Given the description of an element on the screen output the (x, y) to click on. 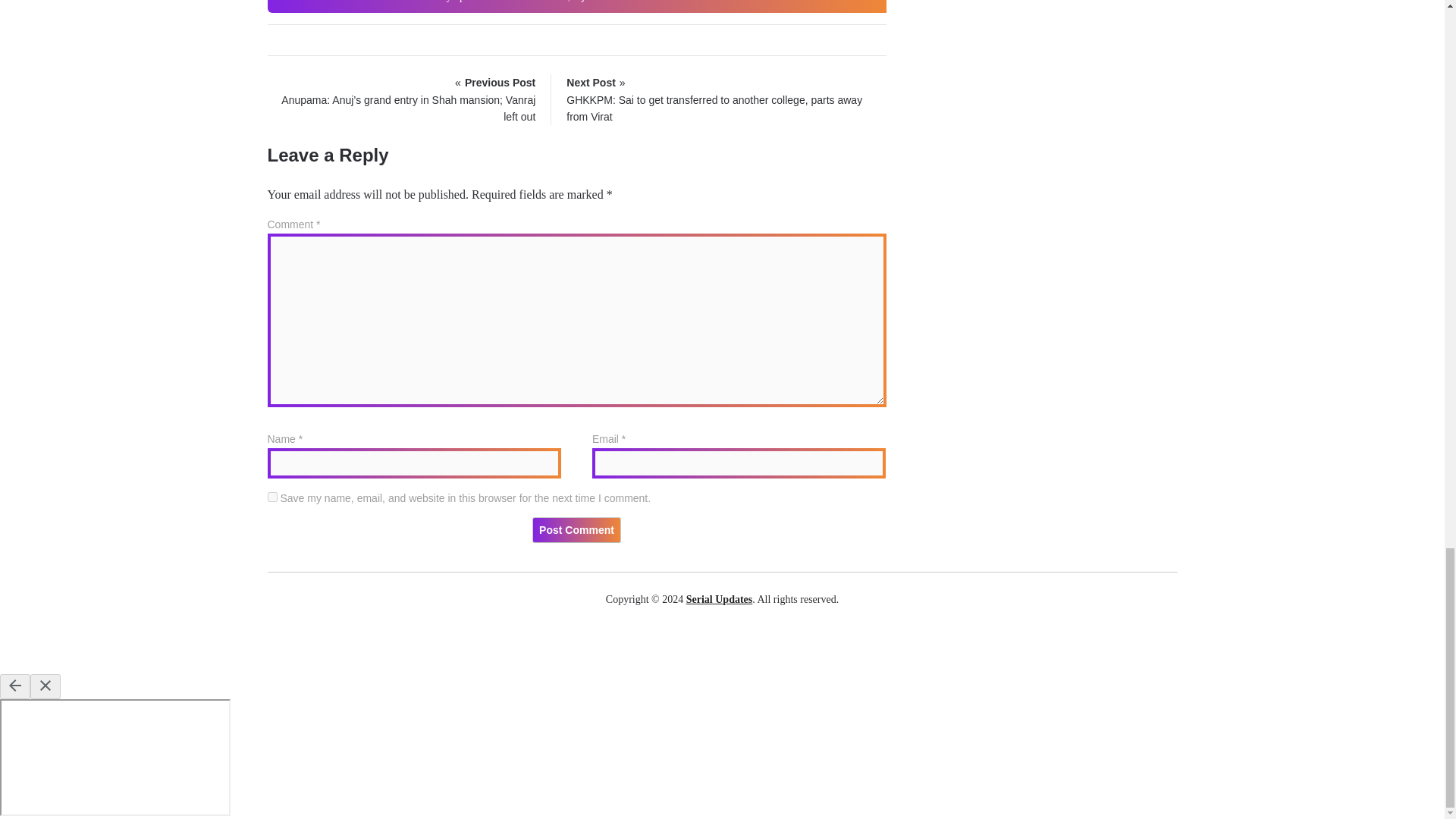
DMCA.com Protection Status (721, 645)
Post Comment (576, 529)
Post Comment (576, 529)
Home (288, 1)
yes (271, 497)
Serial Updates (718, 599)
Imli (377, 1)
Star Plus (335, 1)
